Given the description of an element on the screen output the (x, y) to click on. 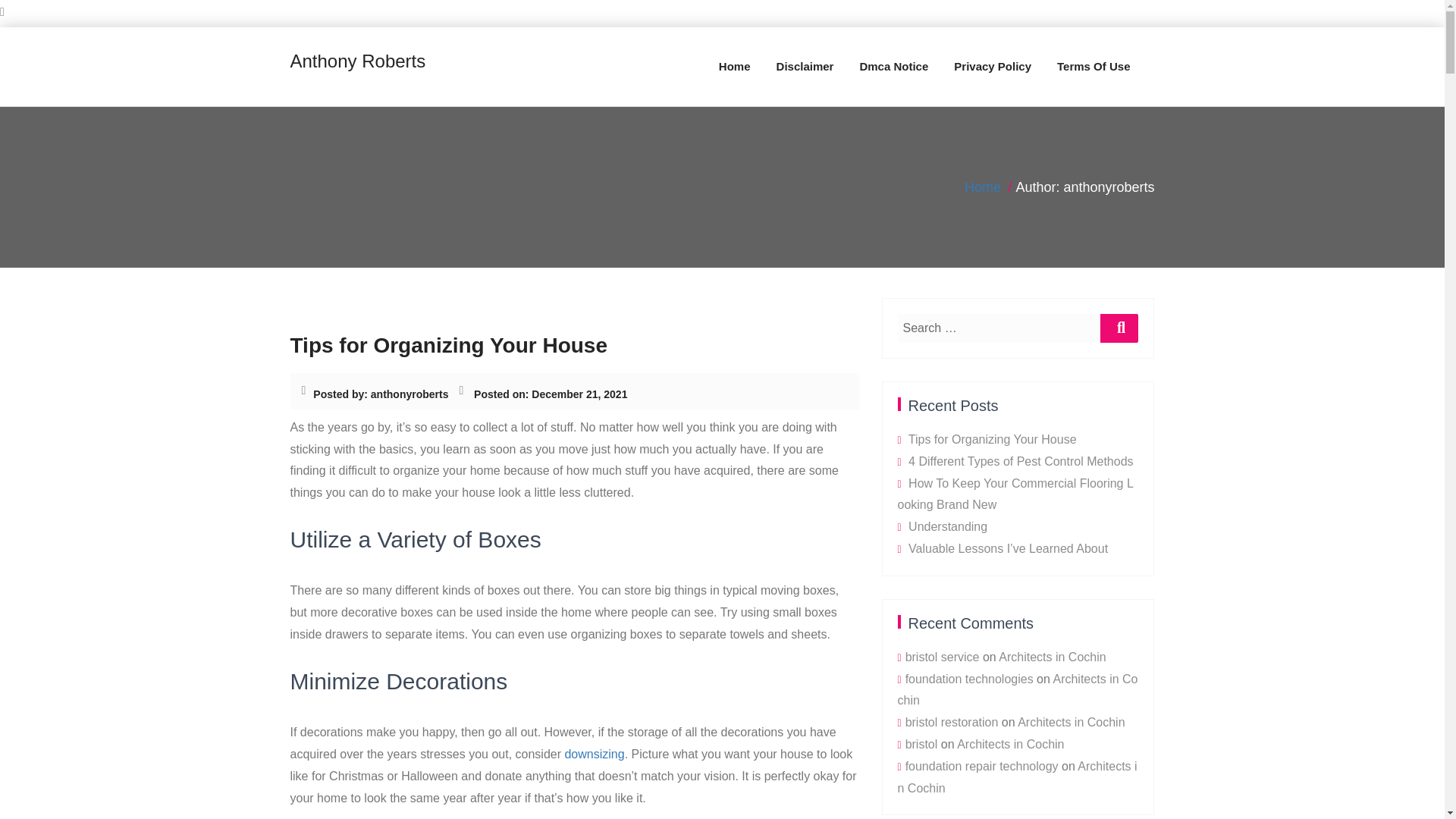
Home (734, 66)
Home (982, 187)
Disclaimer (805, 66)
Privacy Policy (992, 66)
Anthony Roberts (357, 62)
Posted by: anthonyroberts (380, 394)
Tips for Organizing Your House (448, 345)
Home (734, 66)
Posted on: December 21, 2021 (550, 394)
Dmca Notice (893, 66)
